Given the description of an element on the screen output the (x, y) to click on. 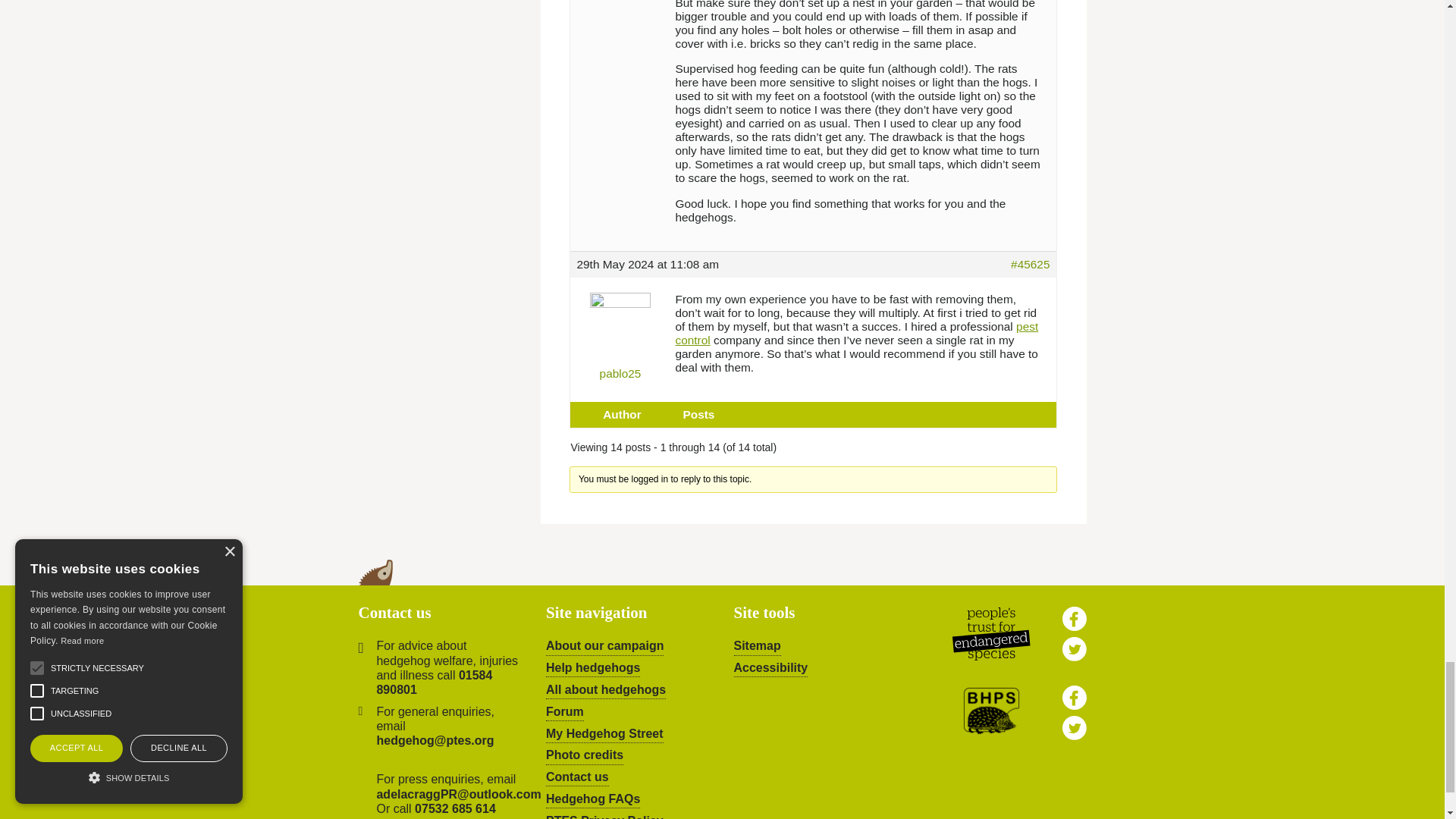
View pablo25's profile (619, 331)
